Given the description of an element on the screen output the (x, y) to click on. 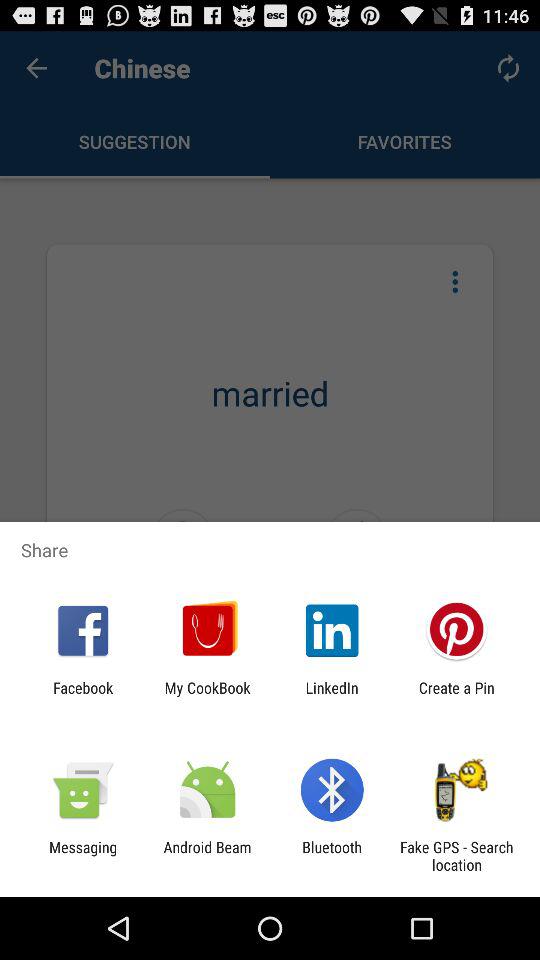
select app next to the fake gps search item (331, 856)
